Given the description of an element on the screen output the (x, y) to click on. 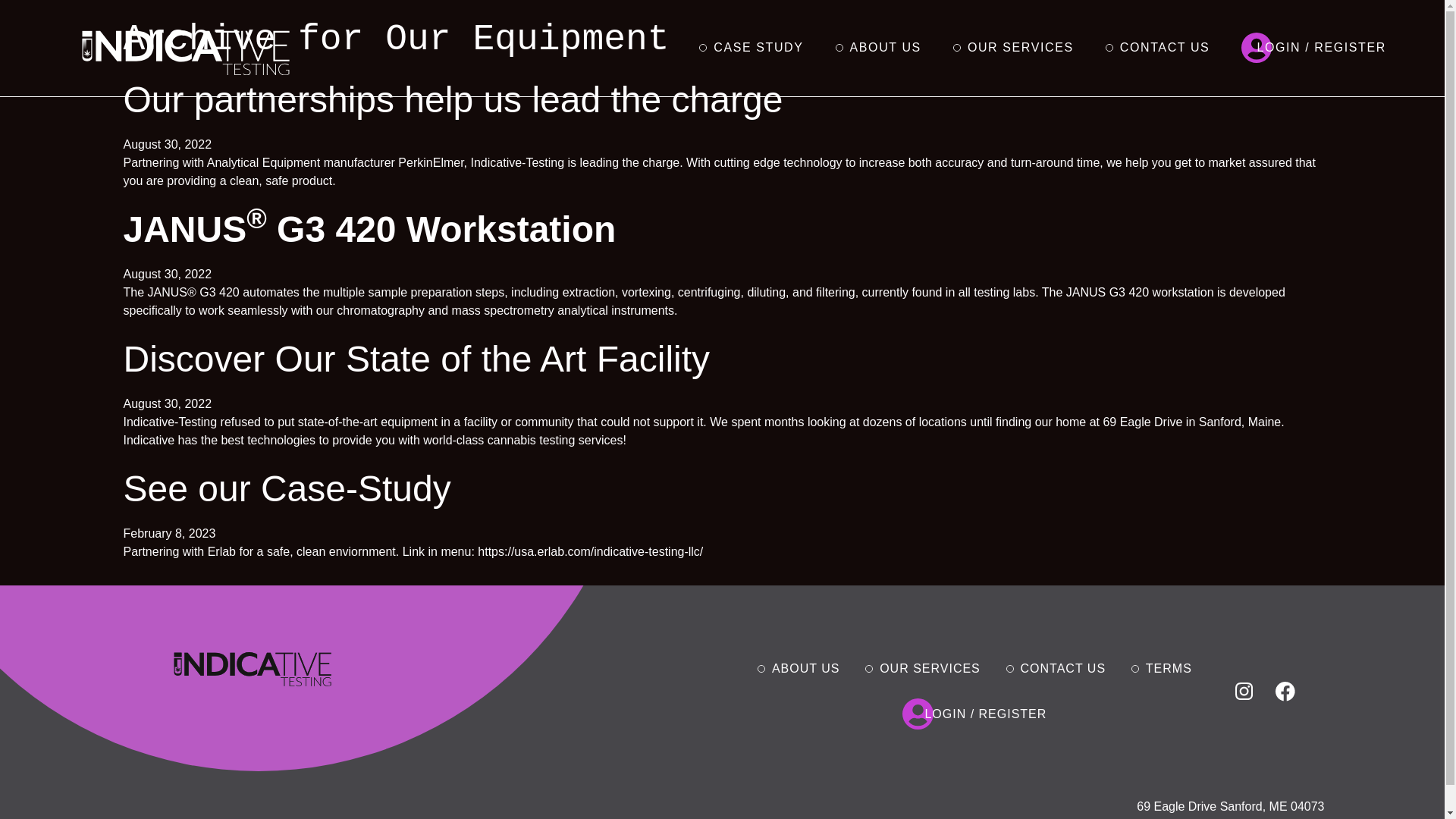
OUR SERVICES (1020, 47)
Discover Our State of the Art Facility (416, 359)
OUR SERVICES (934, 668)
TERMS (1173, 668)
CONTACT US (1164, 47)
CASE STUDY (758, 47)
See our Case-Study (285, 488)
ABOUT US (809, 668)
69 Eagle Drive Sanford, ME 04073 (1230, 806)
Our partnerships help us lead the charge (452, 99)
ABOUT US (885, 47)
CONTACT US (1067, 668)
